Given the description of an element on the screen output the (x, y) to click on. 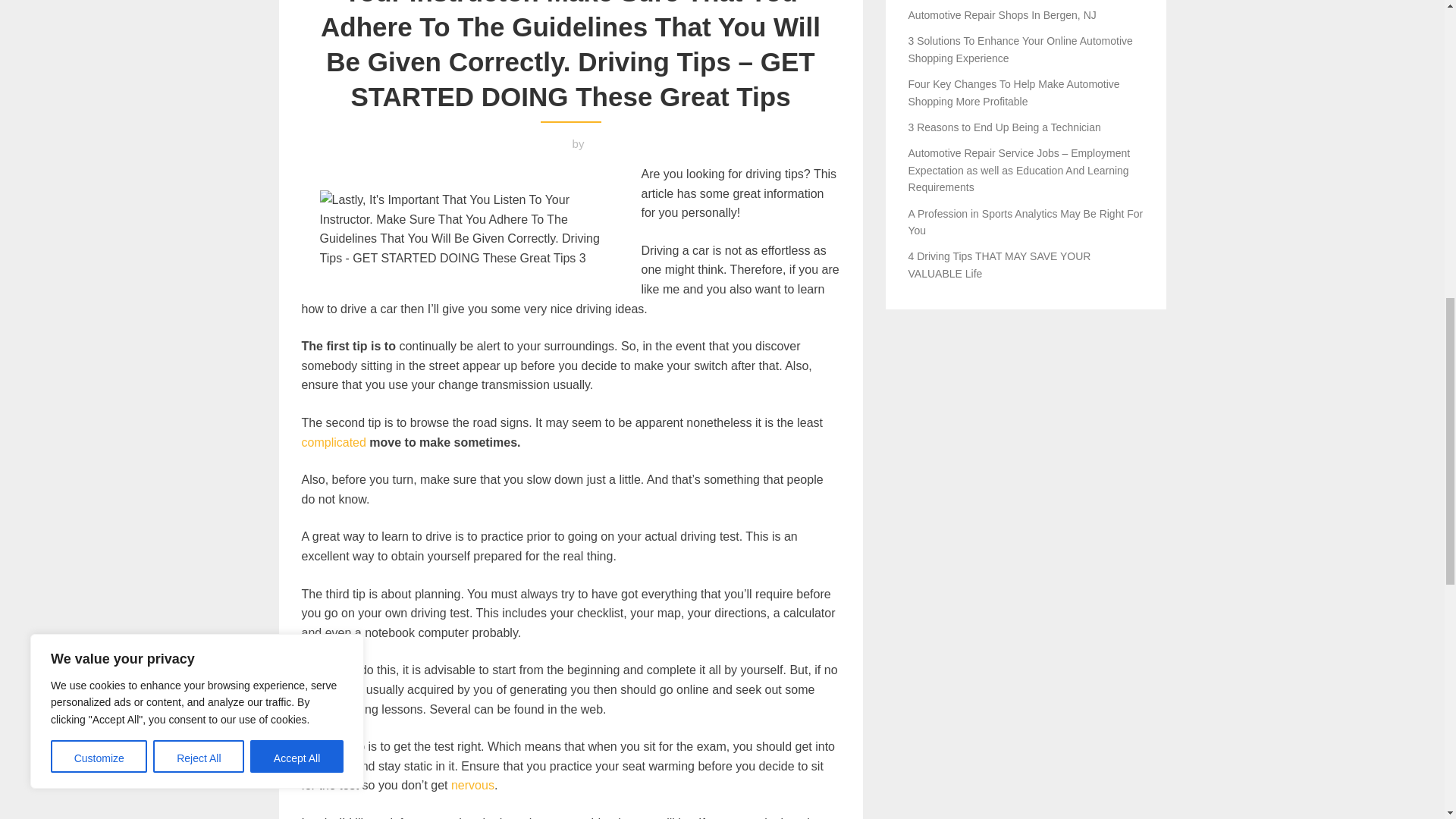
Automotive Repair Shops In Bergen, NJ (1002, 15)
nervous (473, 784)
complicated (333, 441)
